Given the description of an element on the screen output the (x, y) to click on. 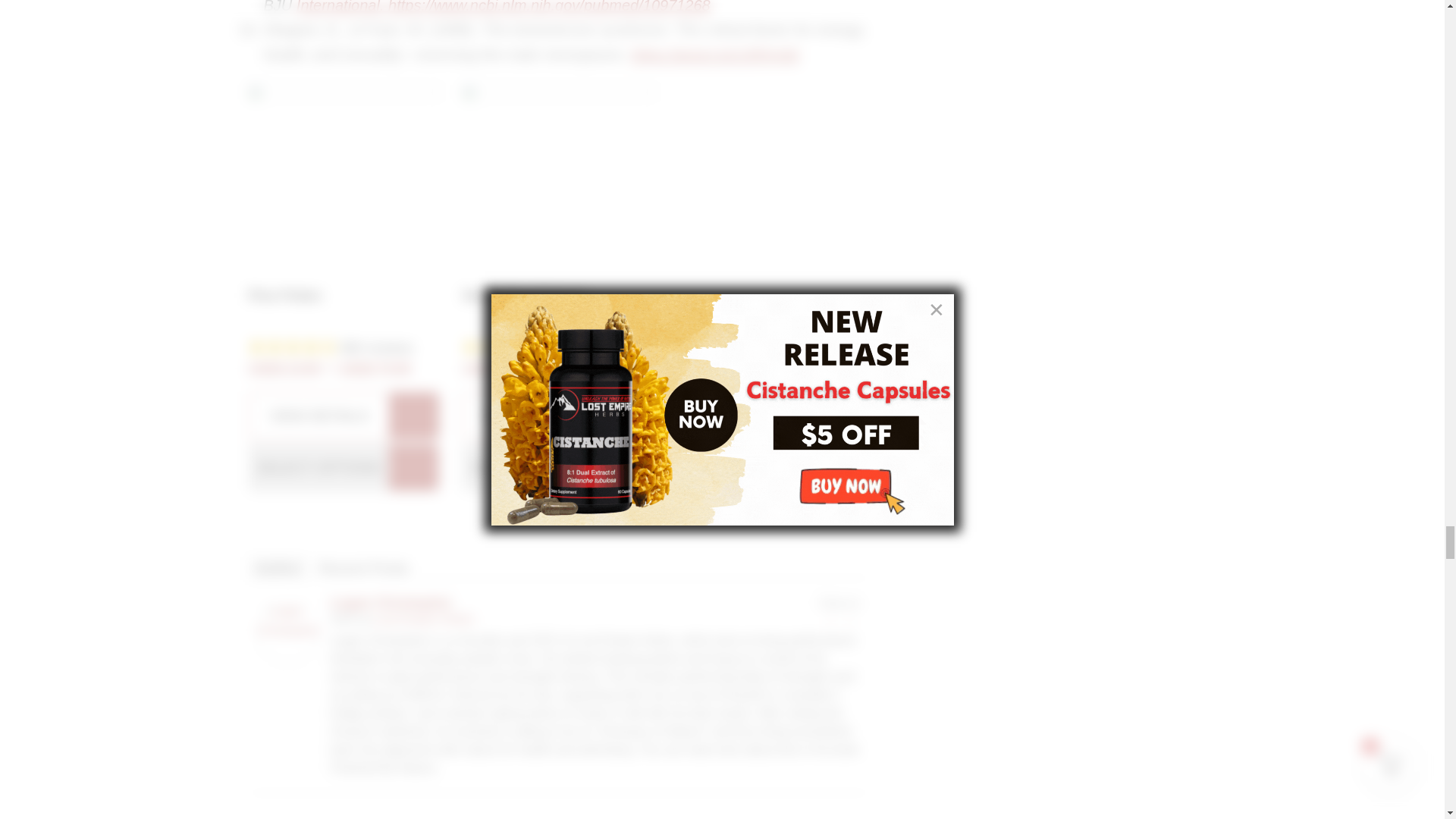
Pine Pollen (343, 415)
Facebook (830, 620)
Nettle Root Extract (558, 415)
Twitter (850, 620)
